Given the description of an element on the screen output the (x, y) to click on. 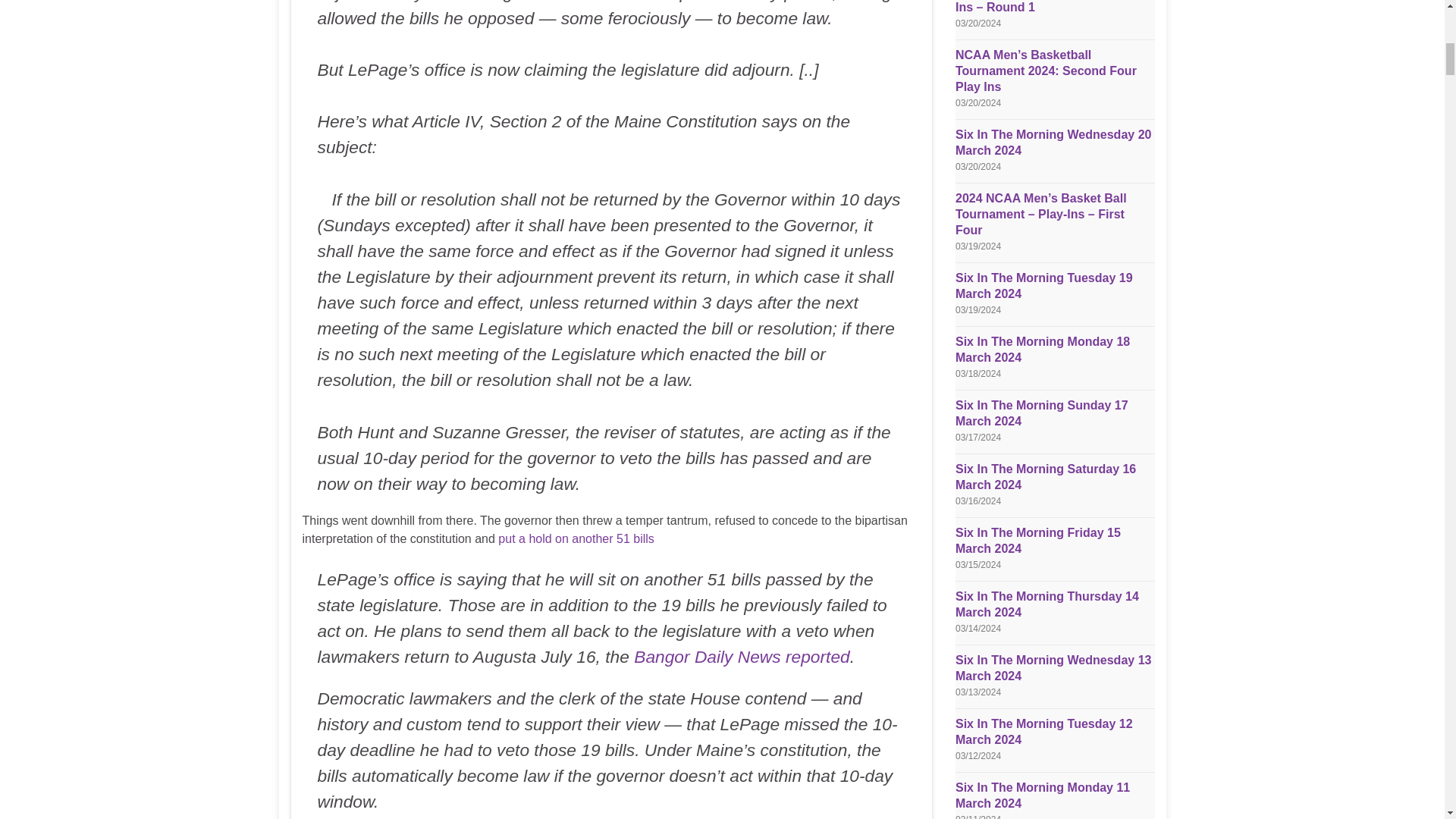
Bangor Daily News reported (741, 656)
put a hold on another 51 bills (575, 538)
